Given the description of an element on the screen output the (x, y) to click on. 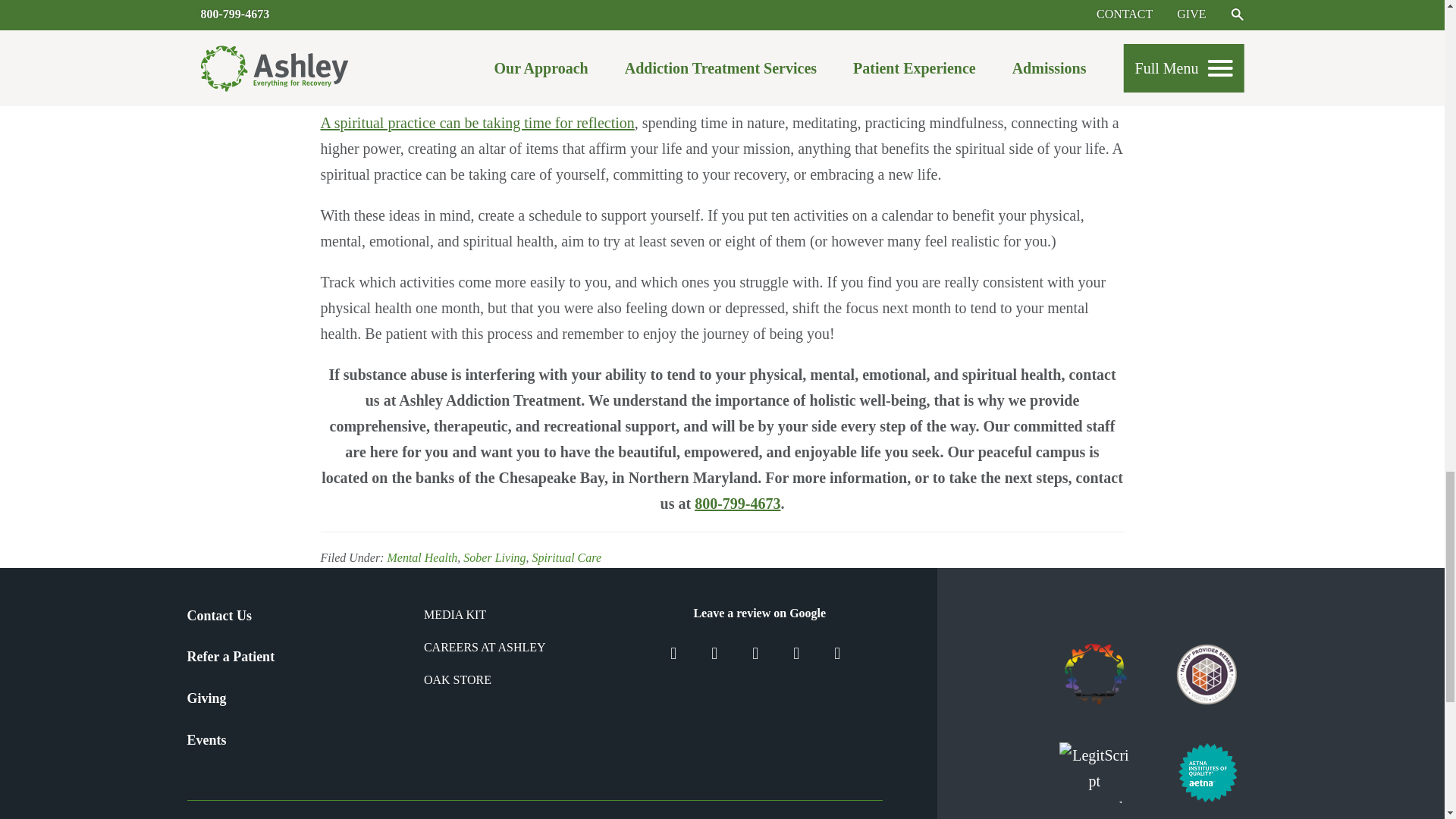
Verify LegitScript Approval (1094, 772)
